Given the description of an element on the screen output the (x, y) to click on. 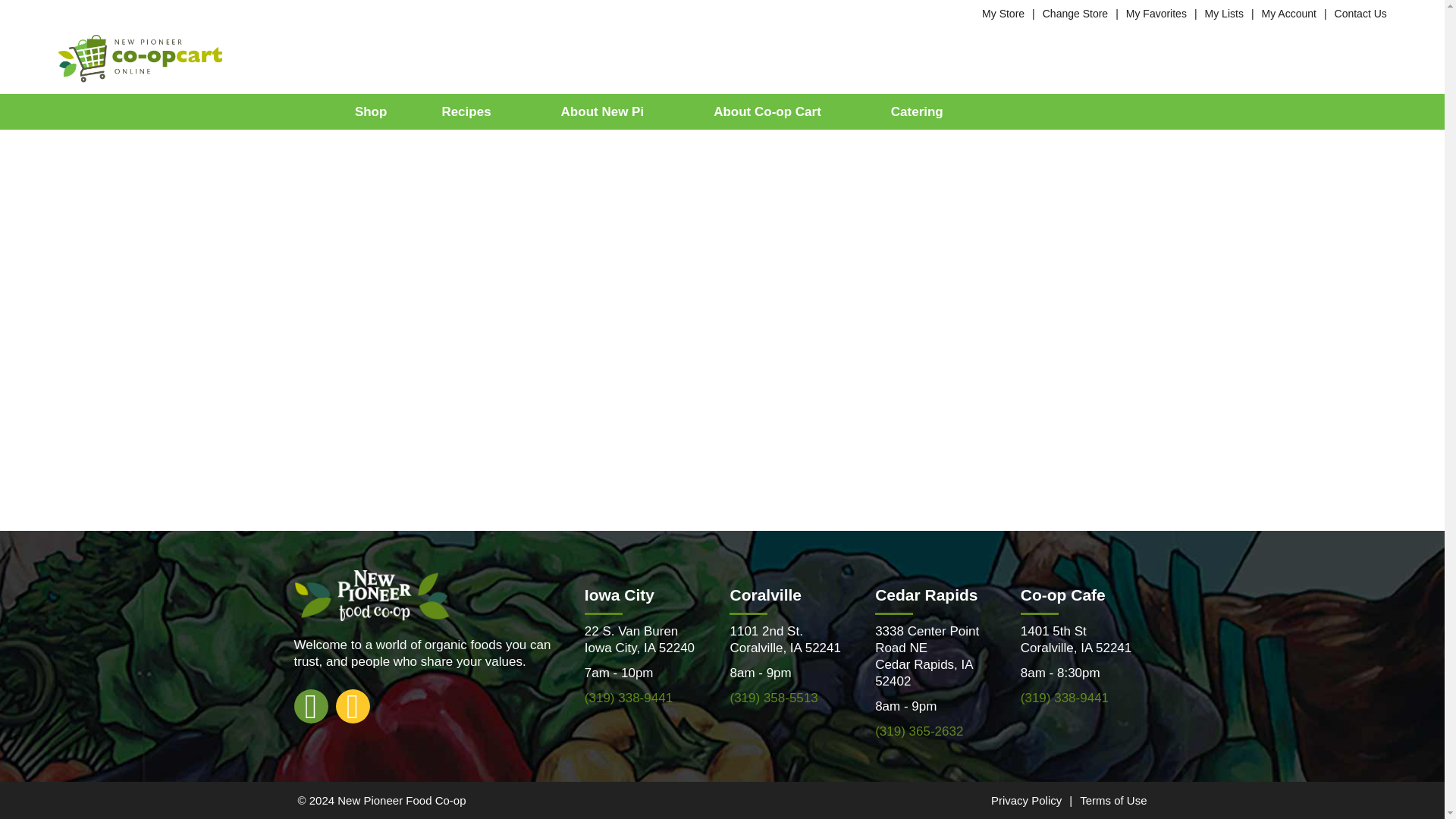
Catering (917, 111)
My Favorites (1155, 13)
My Lists (1224, 13)
instagram (351, 705)
My Account (1289, 13)
About New Pi (610, 111)
Privacy Policy (1026, 799)
Terms of Use (1113, 799)
Recipes (472, 111)
About Co-op Cart (774, 111)
